Given the description of an element on the screen output the (x, y) to click on. 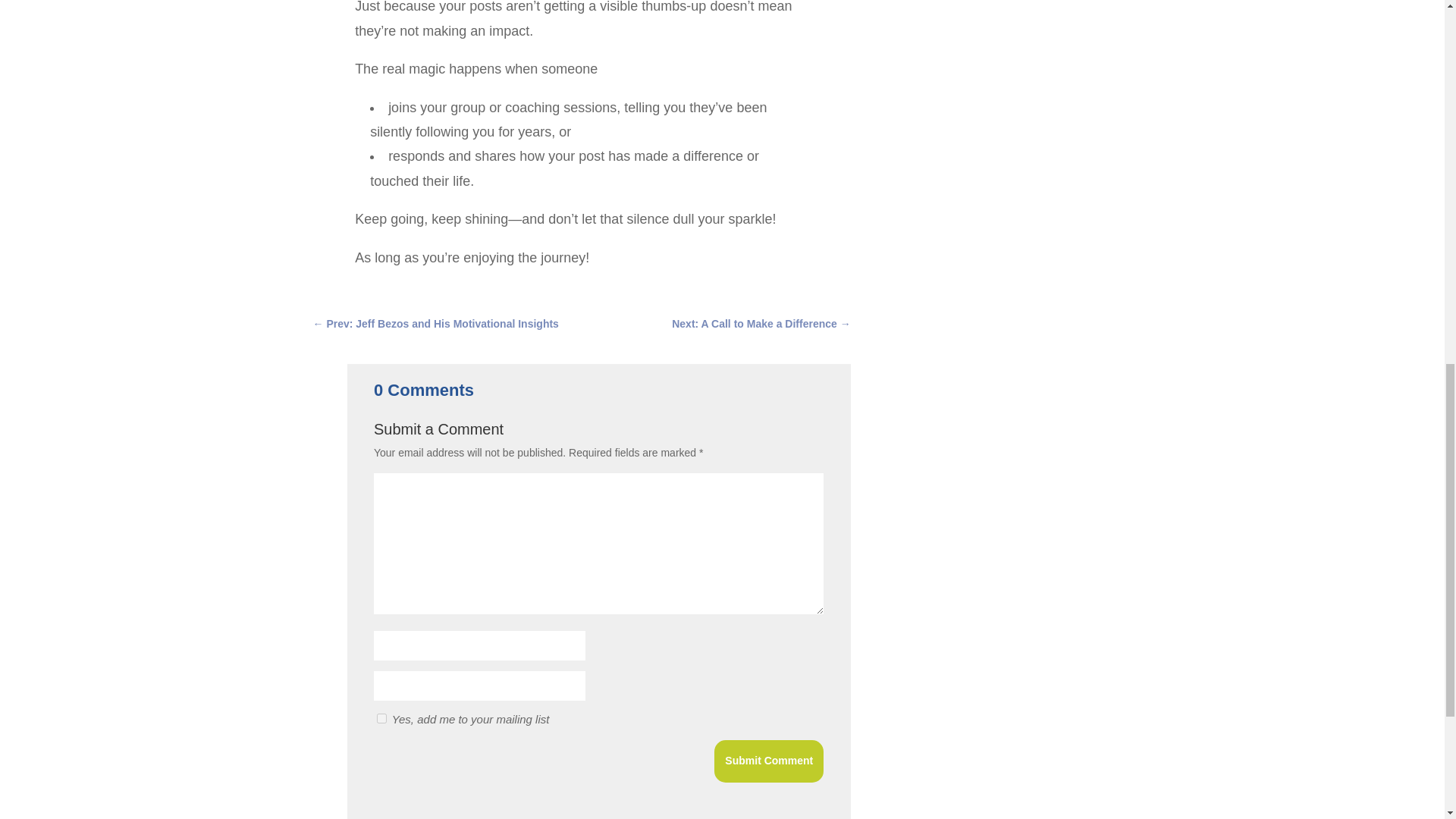
1 (382, 718)
